Given the description of an element on the screen output the (x, y) to click on. 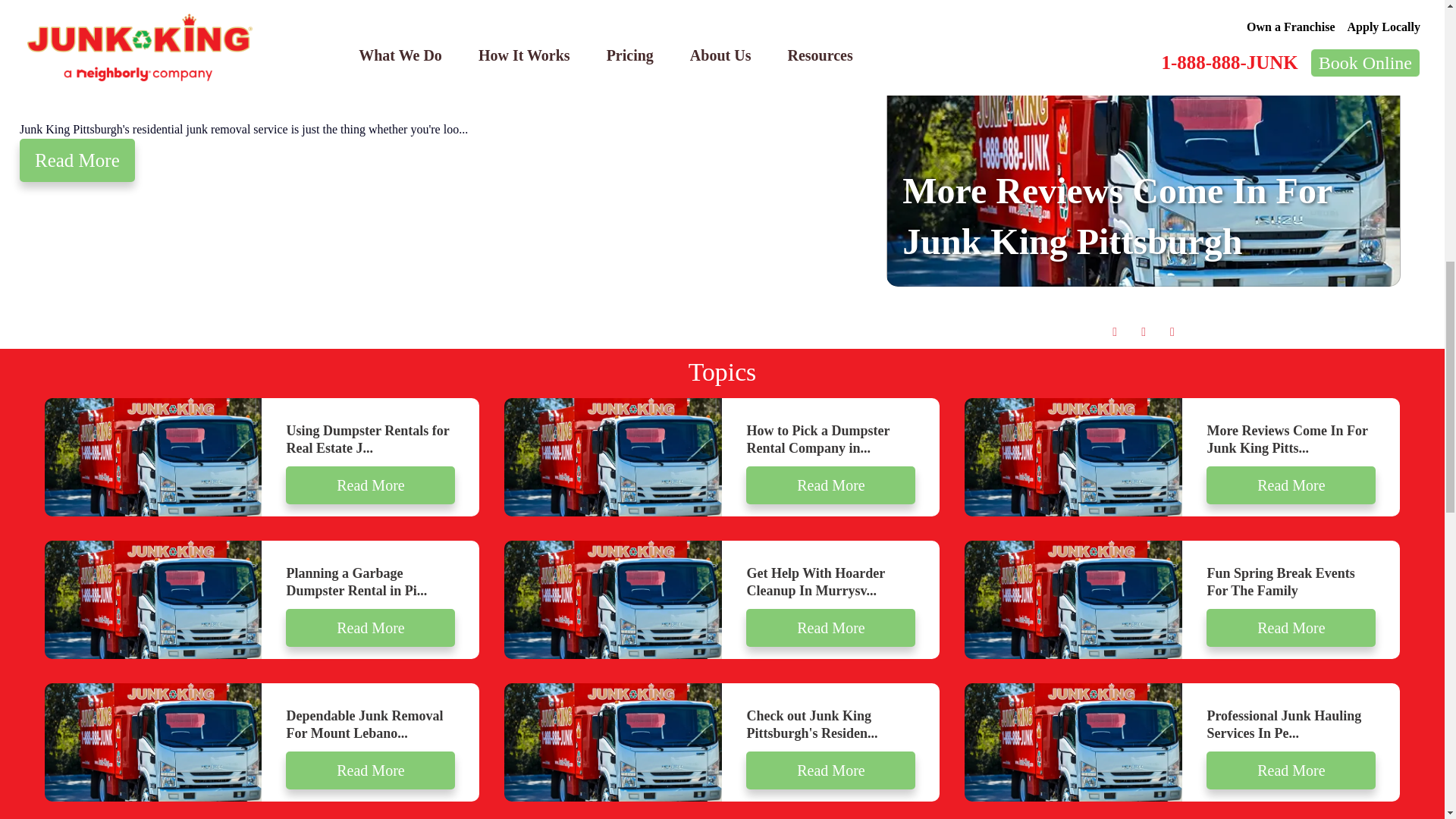
More Reviews Come In For Junk King Pittsburgh (1117, 215)
